Given the description of an element on the screen output the (x, y) to click on. 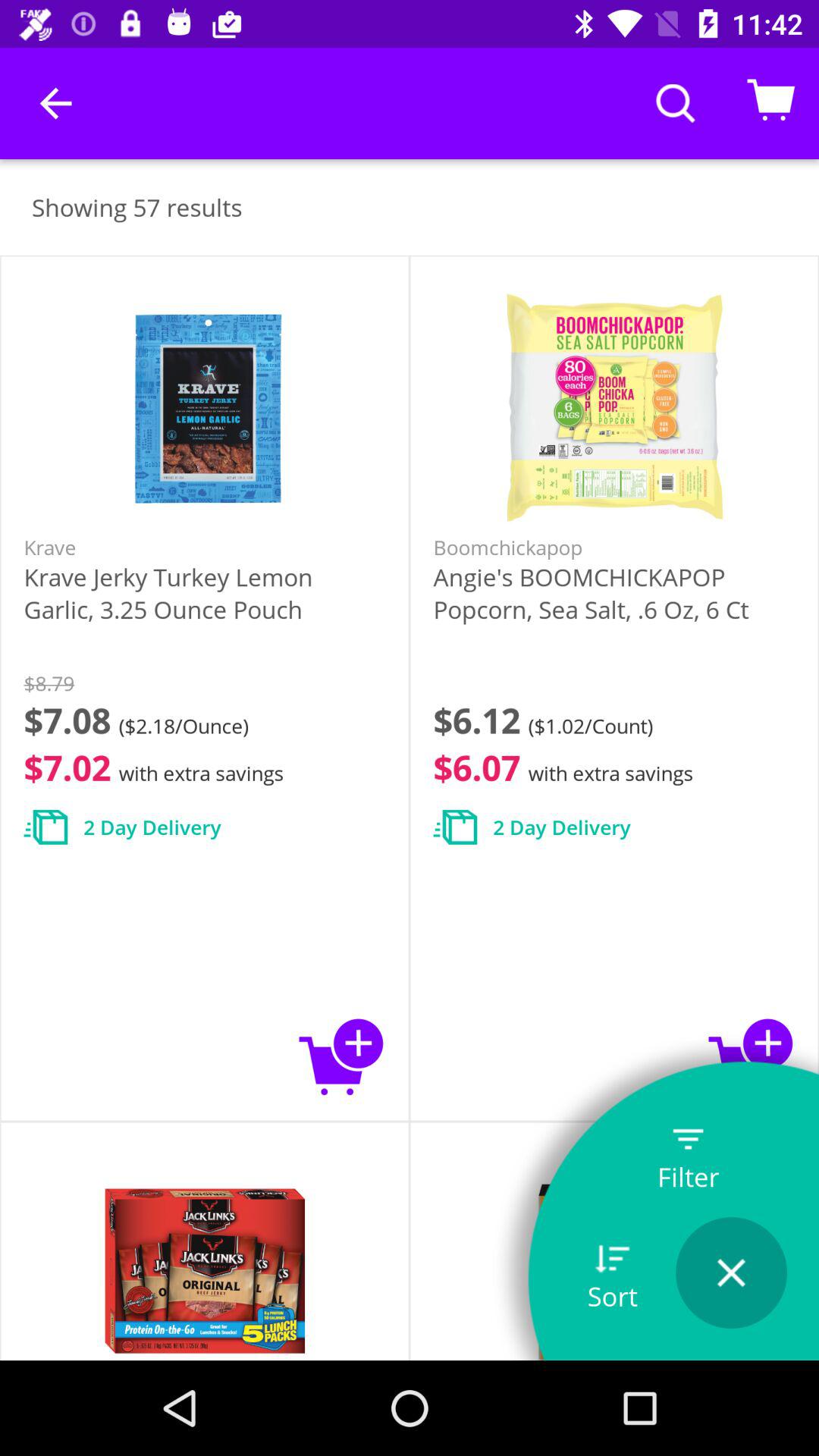
click to cancell (731, 1272)
